Given the description of an element on the screen output the (x, y) to click on. 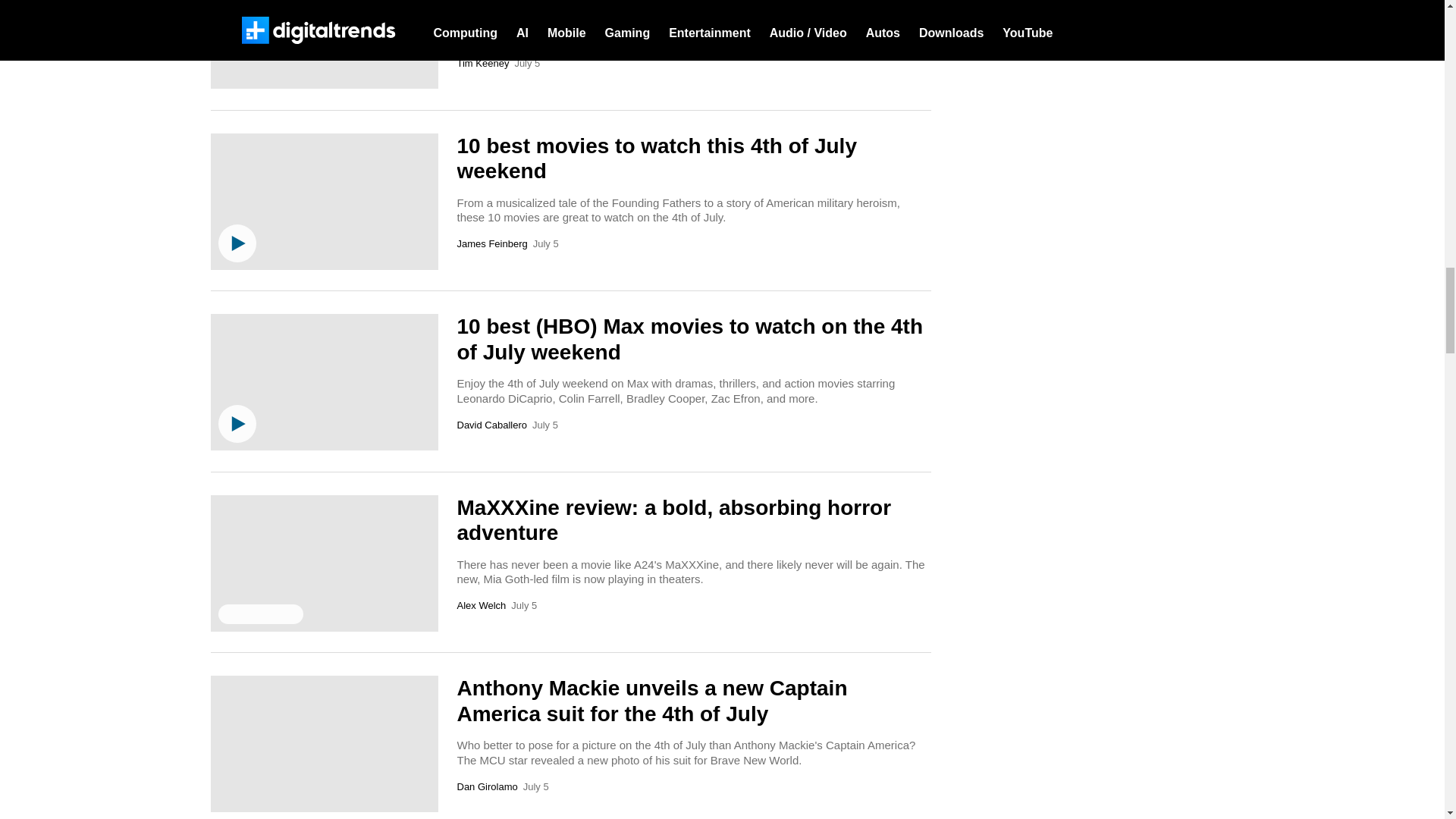
7.5.24 12:30pm (524, 605)
7.5.24 2:21pm (545, 244)
7.5.24 2:14pm (544, 425)
7.5.24 9:02am (535, 787)
7.5.24 3:26pm (526, 63)
